Given the description of an element on the screen output the (x, y) to click on. 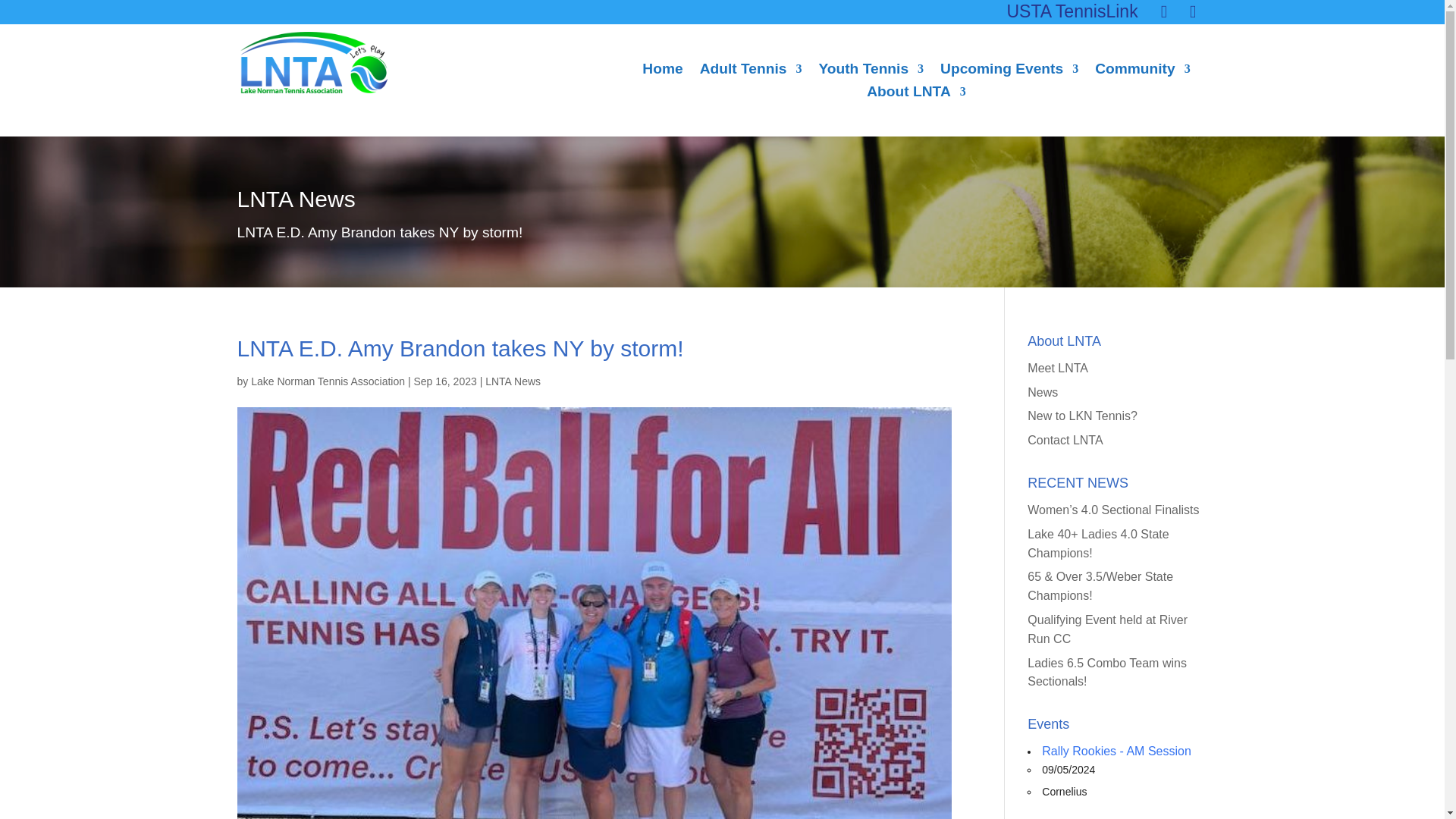
Community (1142, 71)
Youth Tennis (870, 71)
Posts by Lake Norman Tennis Association (327, 381)
Upcoming Events (1009, 71)
Home (662, 71)
Adult Tennis (751, 71)
